Given the description of an element on the screen output the (x, y) to click on. 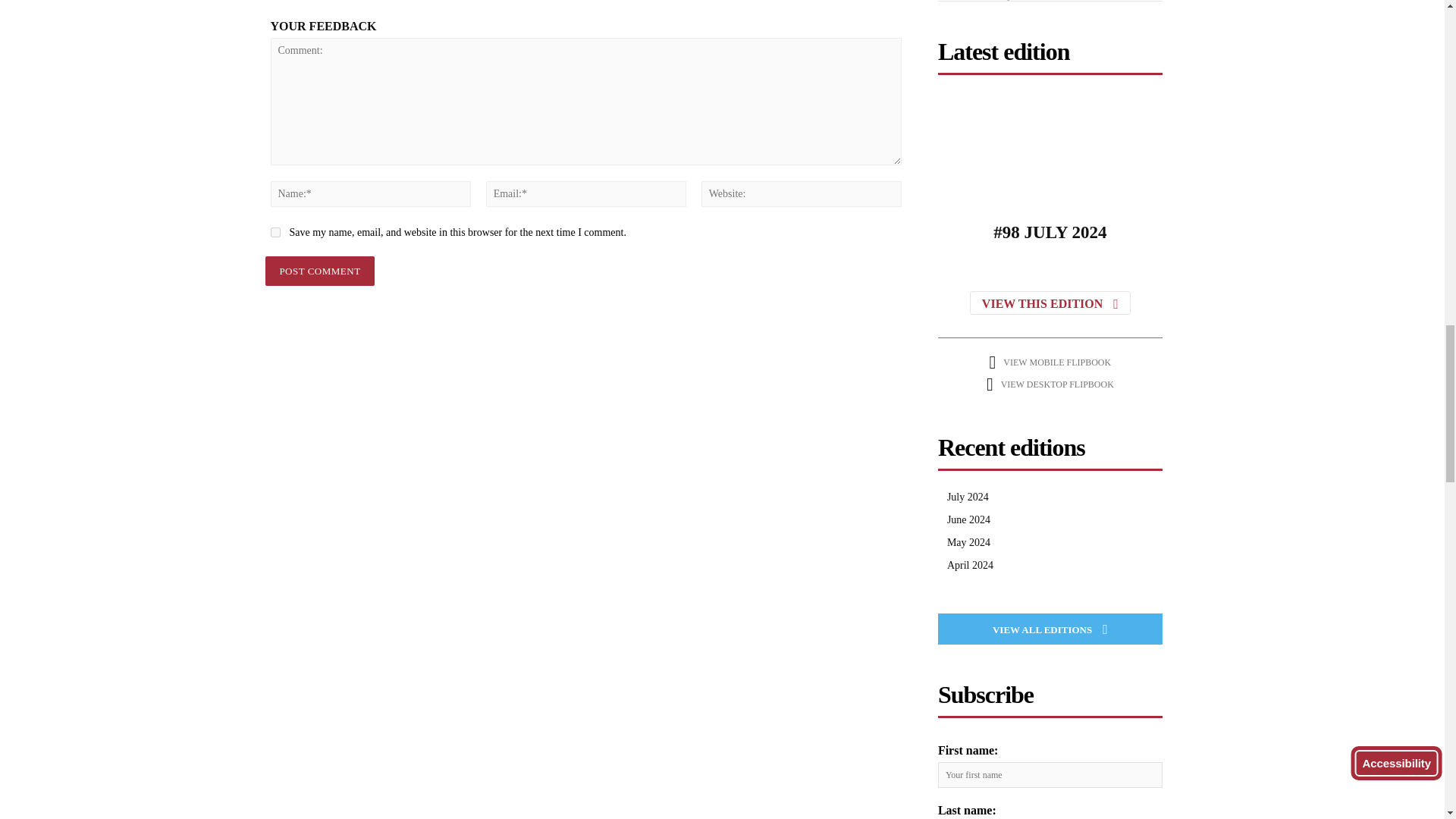
Post Comment (319, 270)
yes (274, 232)
